Given the description of an element on the screen output the (x, y) to click on. 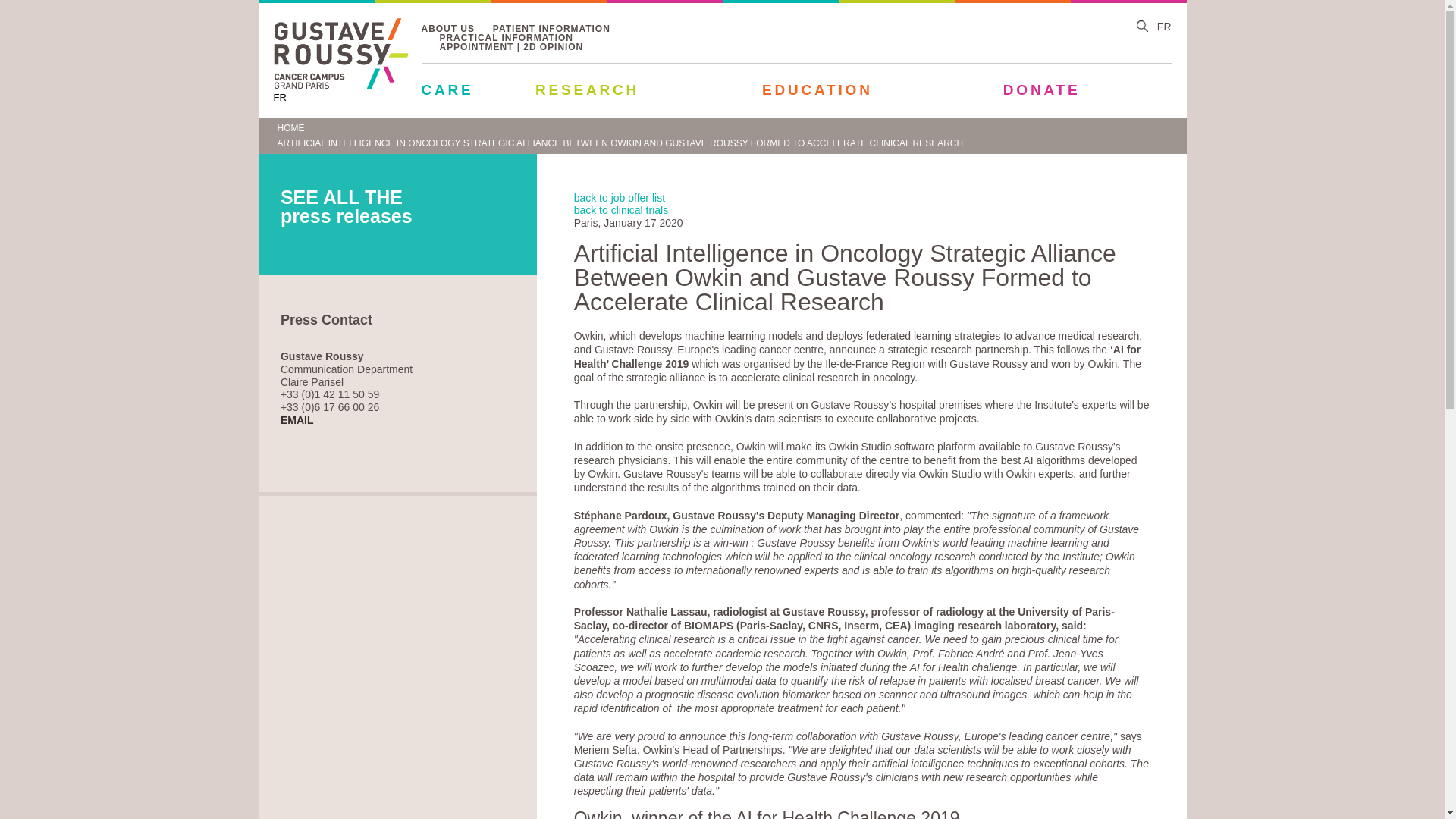
FR (279, 97)
ABOUT US (448, 29)
Search (1142, 26)
Home (340, 85)
PATIENT INFORMATION (551, 29)
PRACTICAL INFORMATION (506, 38)
